Given the description of an element on the screen output the (x, y) to click on. 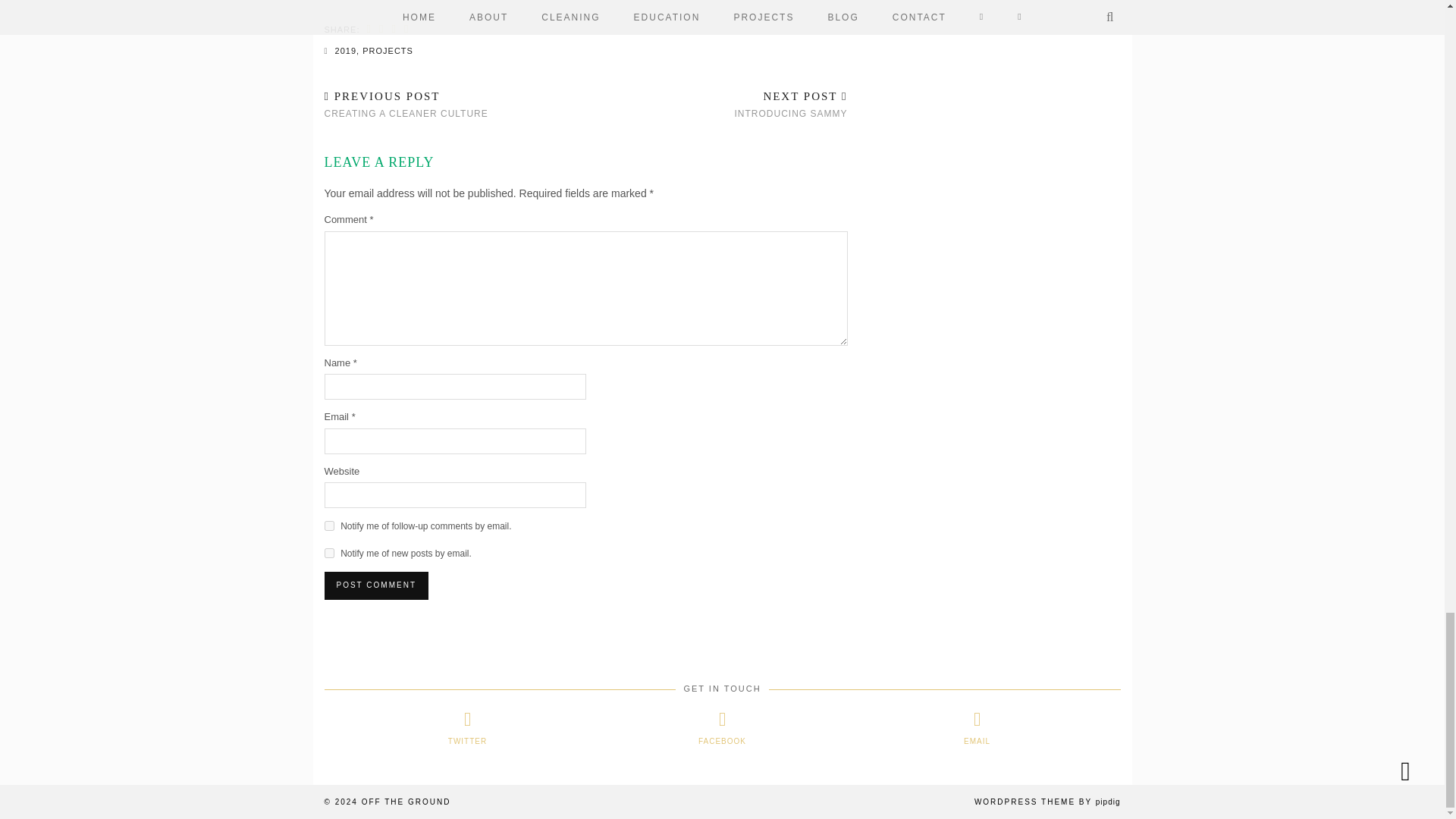
2019 (345, 50)
subscribe (329, 552)
PROJECTS (387, 50)
Post Comment (376, 584)
subscribe (329, 525)
